Given the description of an element on the screen output the (x, y) to click on. 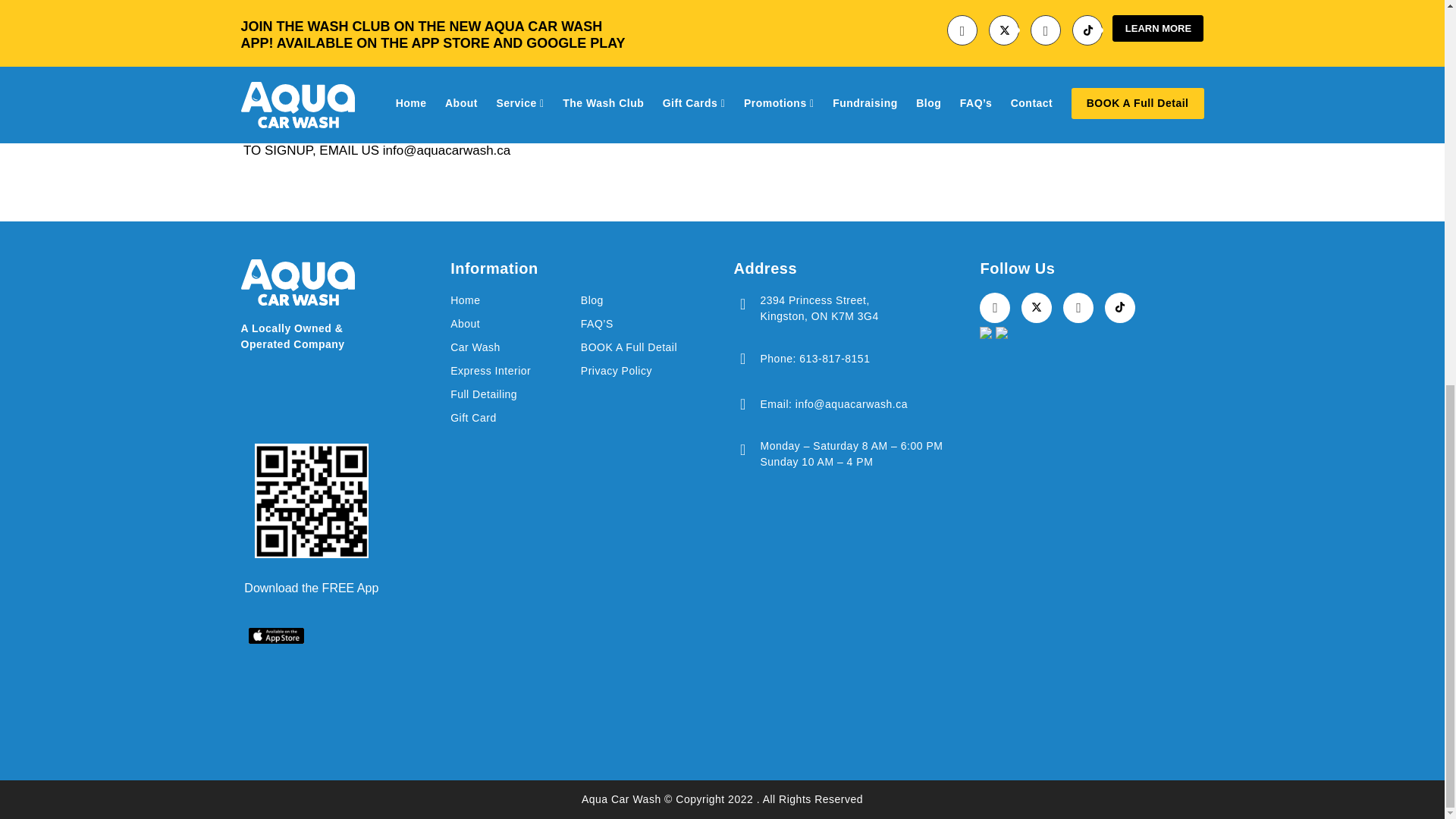
Blog (645, 300)
About (514, 324)
Gift Card (514, 417)
Express Interior (514, 371)
Full Detailing (514, 394)
Car Wash (514, 347)
Home (514, 300)
